Given the description of an element on the screen output the (x, y) to click on. 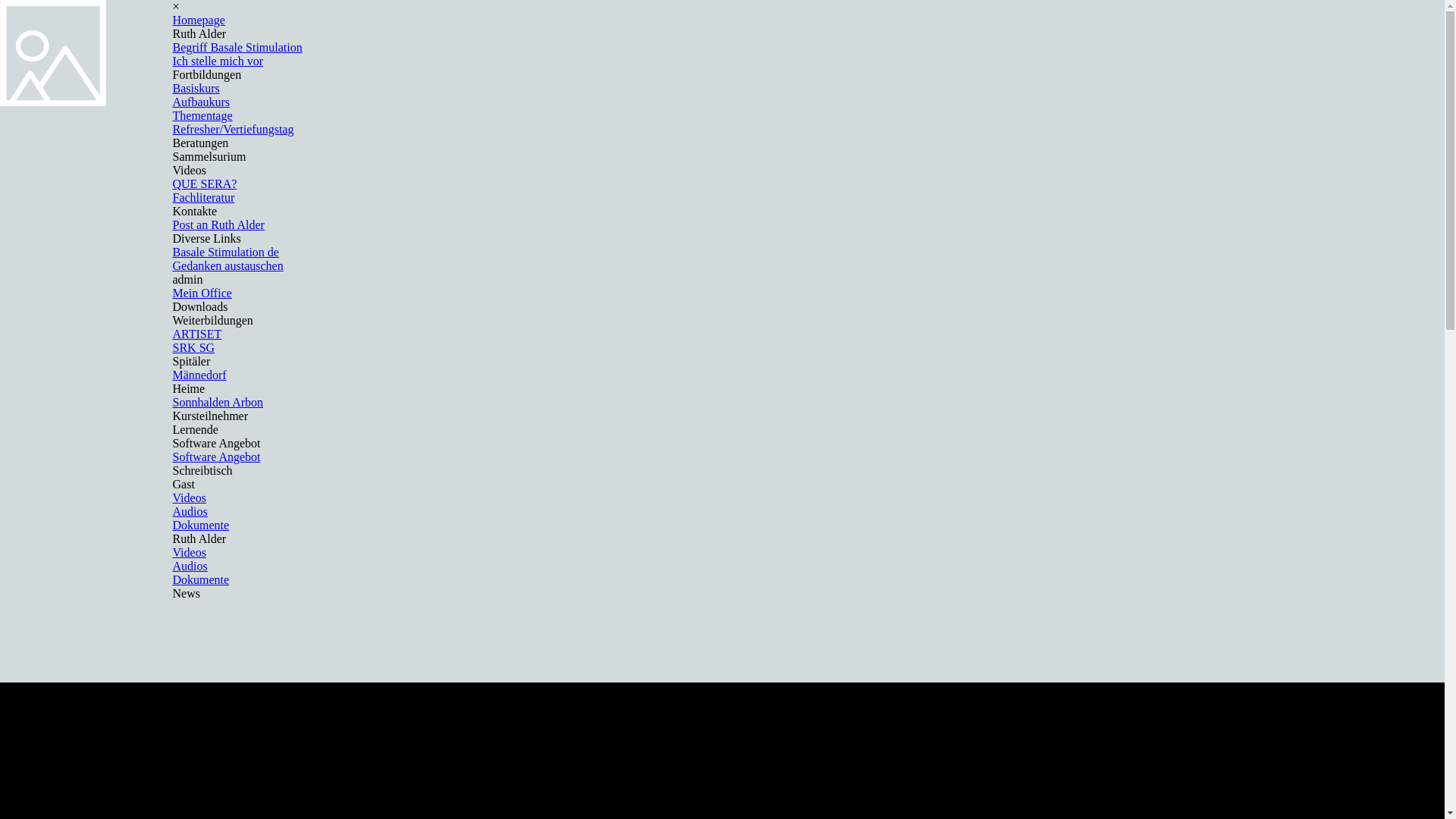
Begriff Basale Stimulation Element type: text (237, 46)
ARTISET Element type: text (197, 333)
Sonnhalden Arbon Element type: text (217, 401)
Homepage Element type: text (198, 19)
Gedanken austauschen Element type: text (227, 265)
Videos Element type: text (189, 497)
Basale Stimulation de Element type: text (225, 251)
Fachliteratur Element type: text (203, 197)
Thementage Element type: text (202, 115)
Dokumente Element type: text (200, 524)
Dokumente Element type: text (200, 579)
Aufbaukurs Element type: text (201, 101)
Audios Element type: text (189, 511)
Basiskurs Element type: text (195, 87)
QUE SERA? Element type: text (204, 183)
Mein Office Element type: text (202, 292)
Refresher/Vertiefungstag Element type: text (233, 128)
Software Angebot Element type: text (216, 456)
Videos Element type: text (189, 552)
SRK SG Element type: text (193, 347)
Post an Ruth Alder Element type: text (218, 224)
Audios Element type: text (189, 565)
Ich stelle mich vor Element type: text (217, 60)
